Given the description of an element on the screen output the (x, y) to click on. 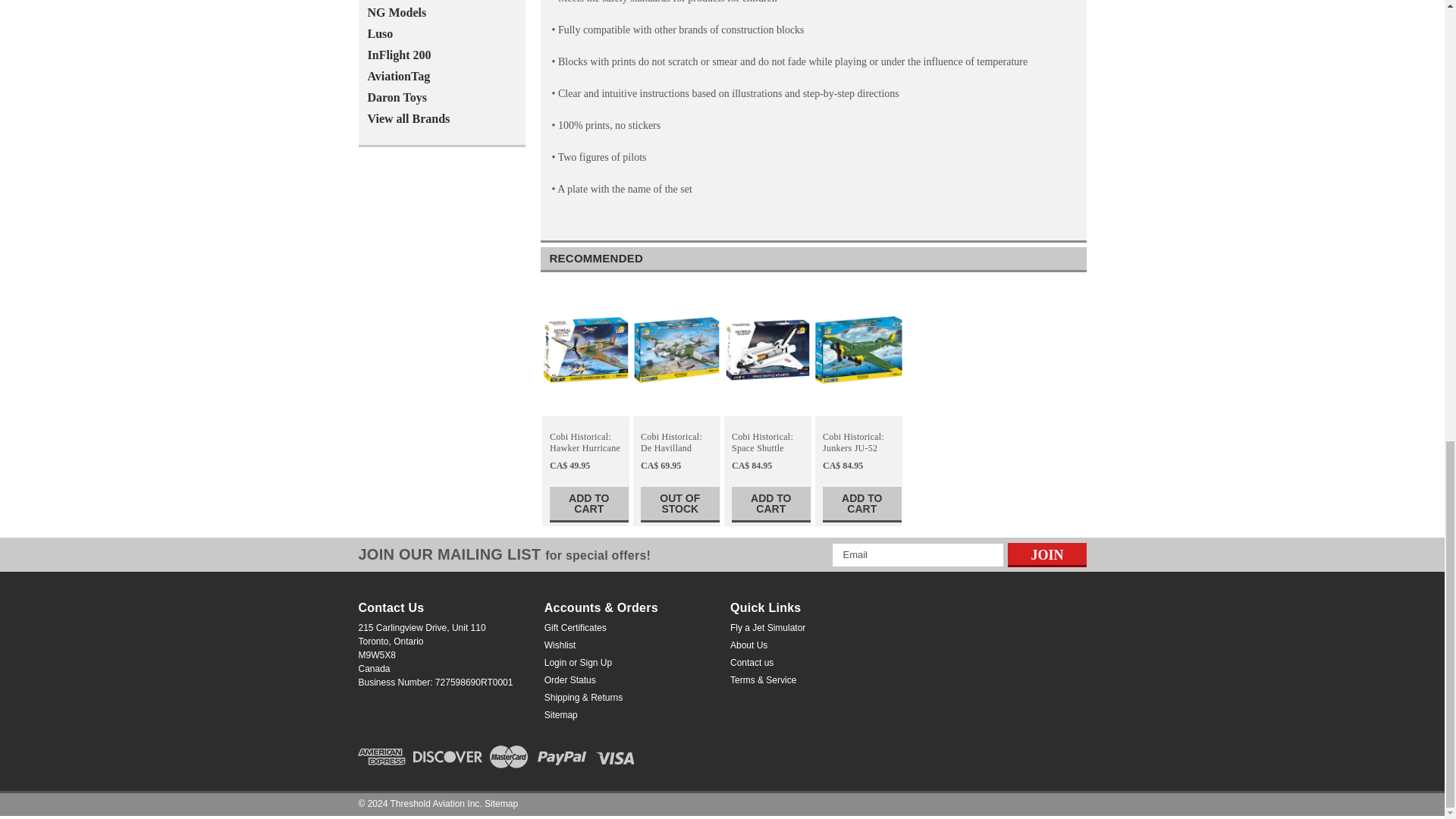
Cobi Historical: Junkers JU-52 (858, 350)
Cobi Historical: De Havilland Mosquito (676, 350)
Join (1046, 554)
Cobi Historical: Space Shuttle Atlantis (766, 349)
Cobi Historical: Hawker Hurricane  (584, 350)
